Given the description of an element on the screen output the (x, y) to click on. 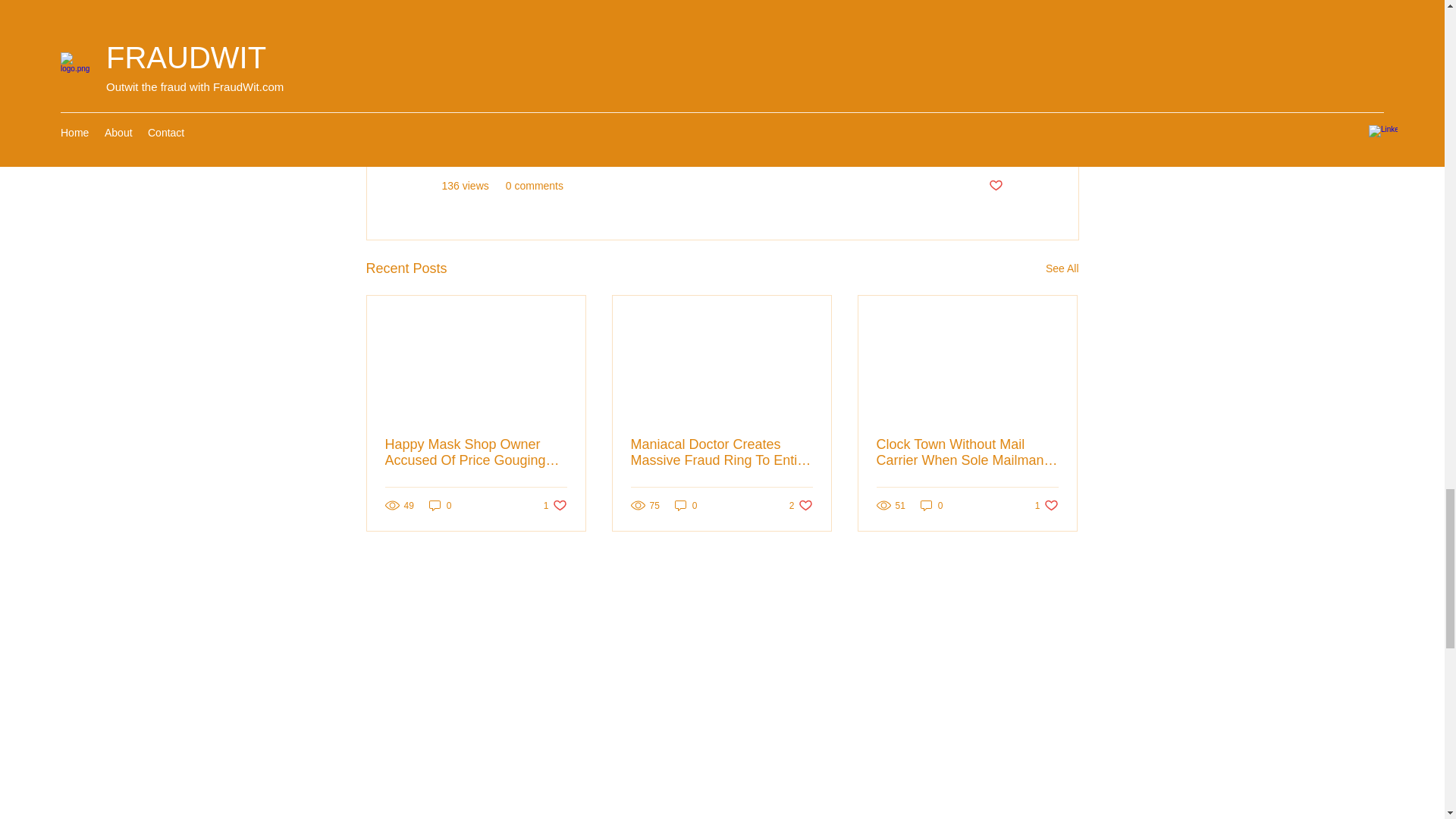
0 (931, 504)
Post not marked as liked (995, 186)
Satirical Fraud News (953, 140)
medical fraud (534, 83)
0 (685, 504)
See All (1061, 268)
